Given the description of an element on the screen output the (x, y) to click on. 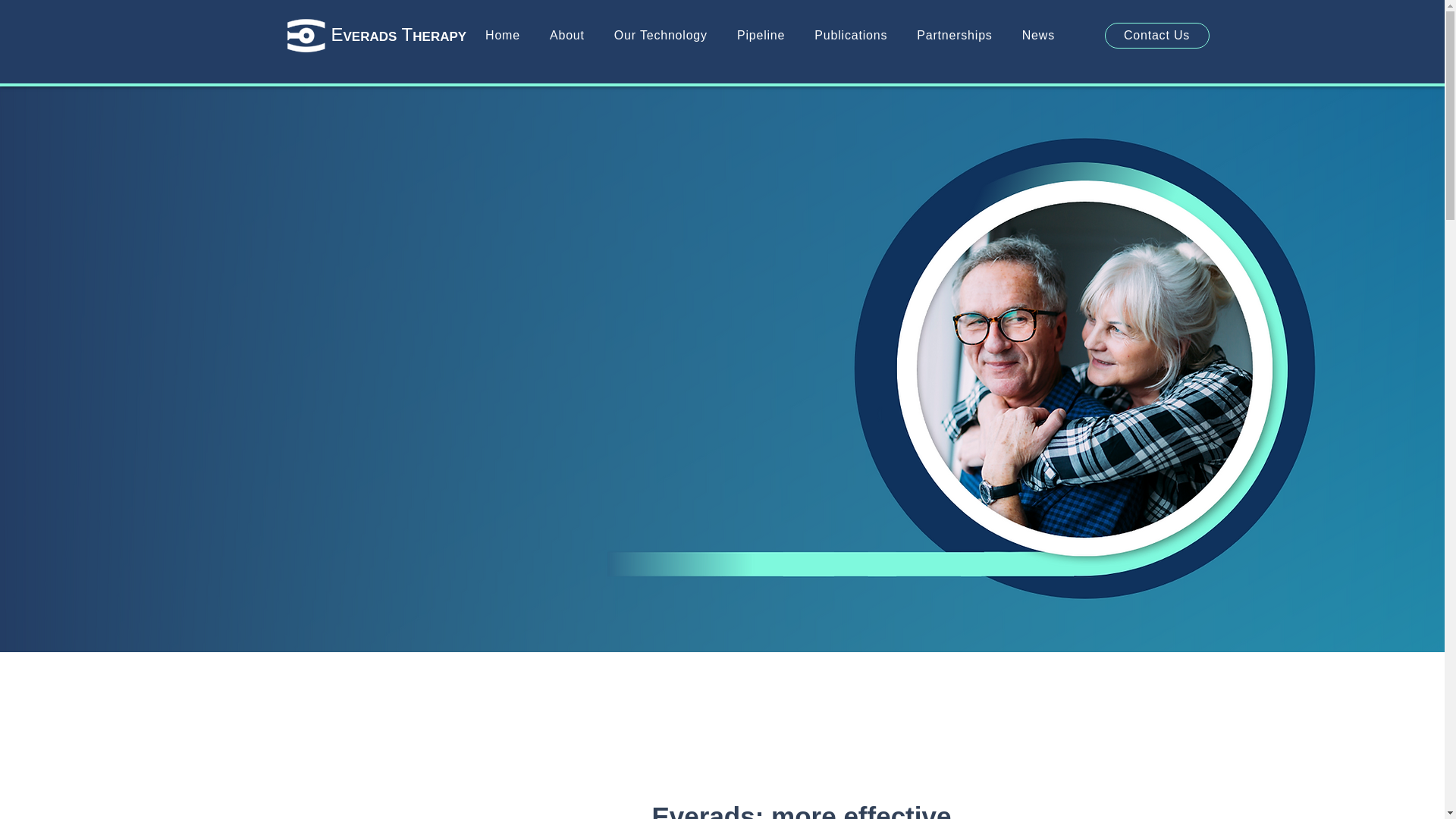
Partnerships (954, 34)
Pipeline (759, 34)
Publications (850, 34)
Contact Us (1155, 35)
EVERADS THERAPY (397, 34)
News (1037, 34)
Our Technology (660, 34)
About (567, 34)
Home (502, 34)
